Given the description of an element on the screen output the (x, y) to click on. 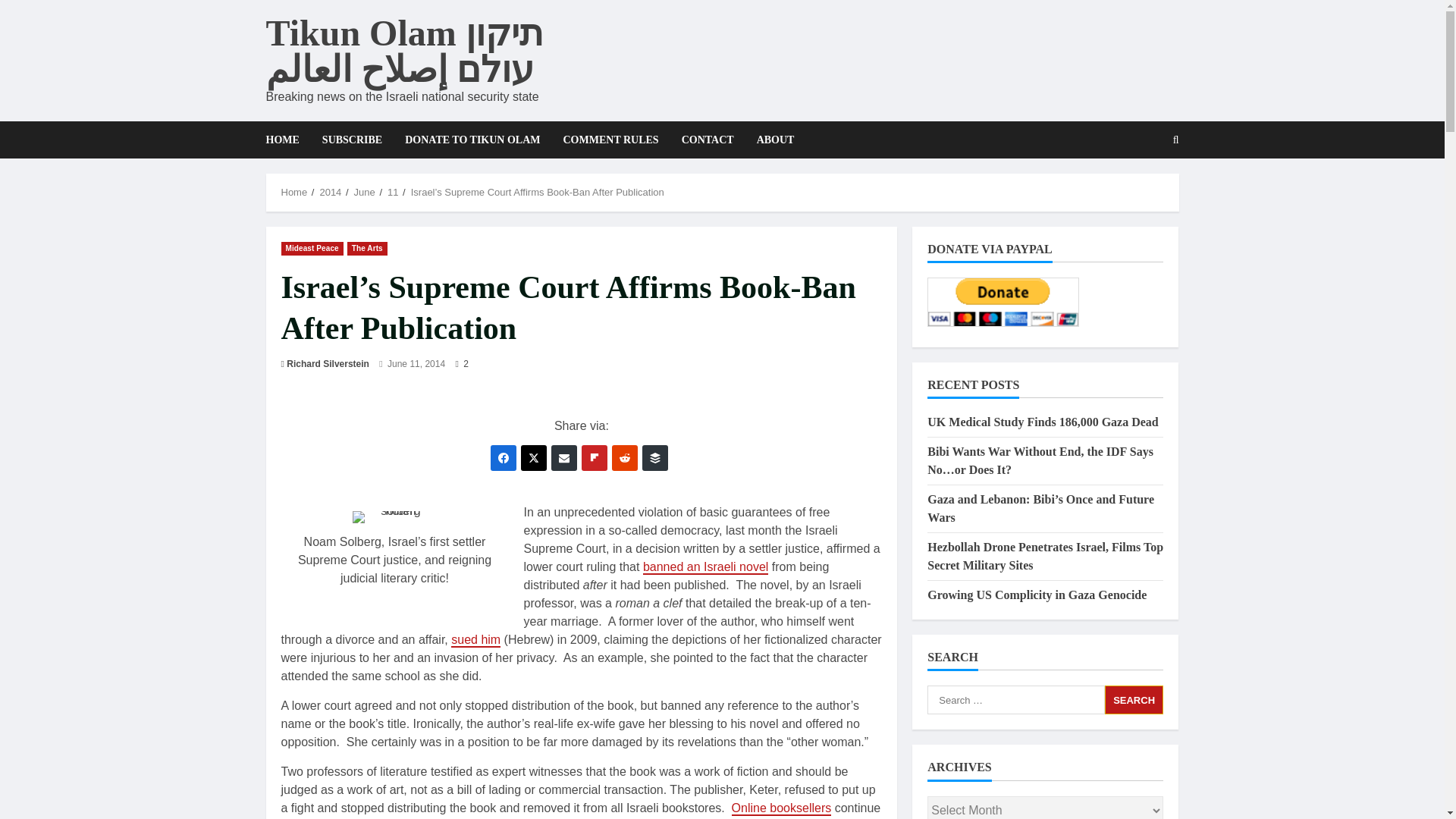
HOME (287, 139)
Richard Silverstein (327, 364)
The Arts (367, 247)
ABOUT (769, 139)
June (364, 192)
Search (1134, 699)
sued him (475, 640)
COMMENT RULES (610, 139)
2 (460, 364)
Search (1134, 699)
banned an Israeli novel (705, 567)
Online booksellers (781, 808)
SUBSCRIBE (352, 139)
Home (294, 192)
Search (1139, 191)
